Given the description of an element on the screen output the (x, y) to click on. 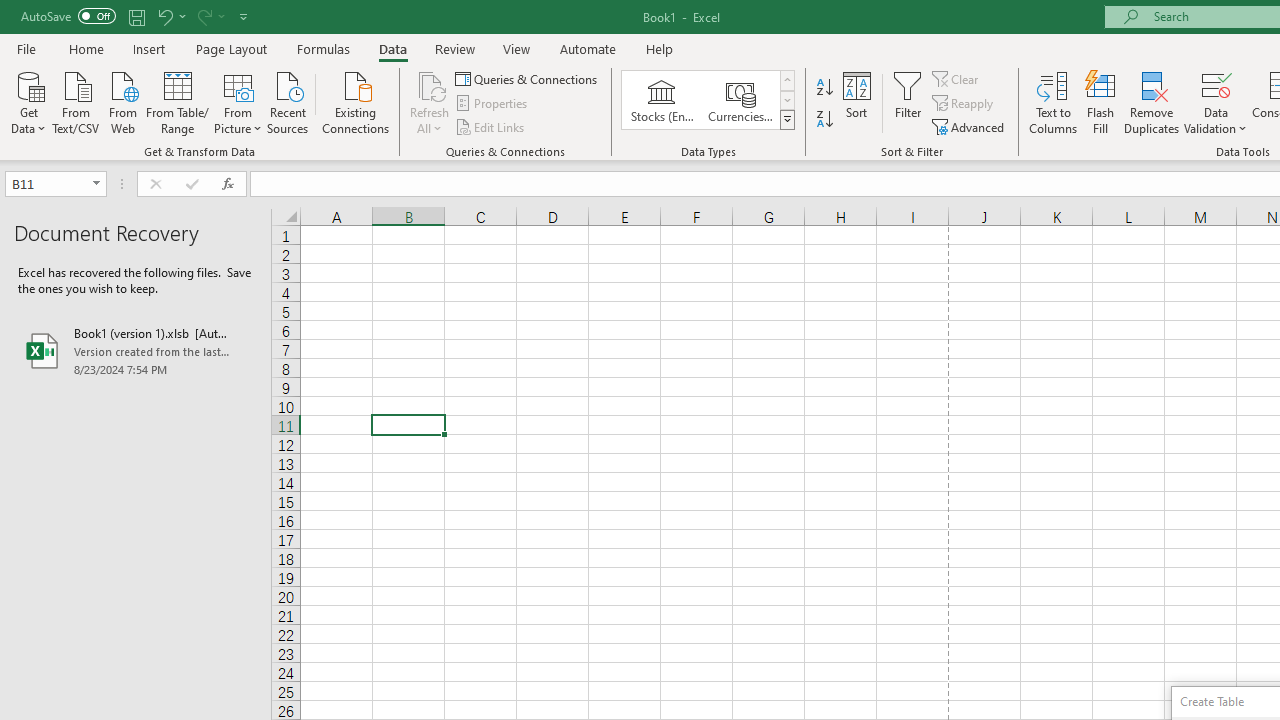
Book1 (version 1).xlsb  [AutoRecovered] (136, 350)
Recent Sources (287, 101)
AutomationID: ConvertToLinkedEntity (708, 99)
From Web (122, 101)
From Picture (238, 101)
Automate (588, 48)
AutoSave (68, 16)
Stocks (English) (662, 100)
From Text/CSV (75, 101)
